Given the description of an element on the screen output the (x, y) to click on. 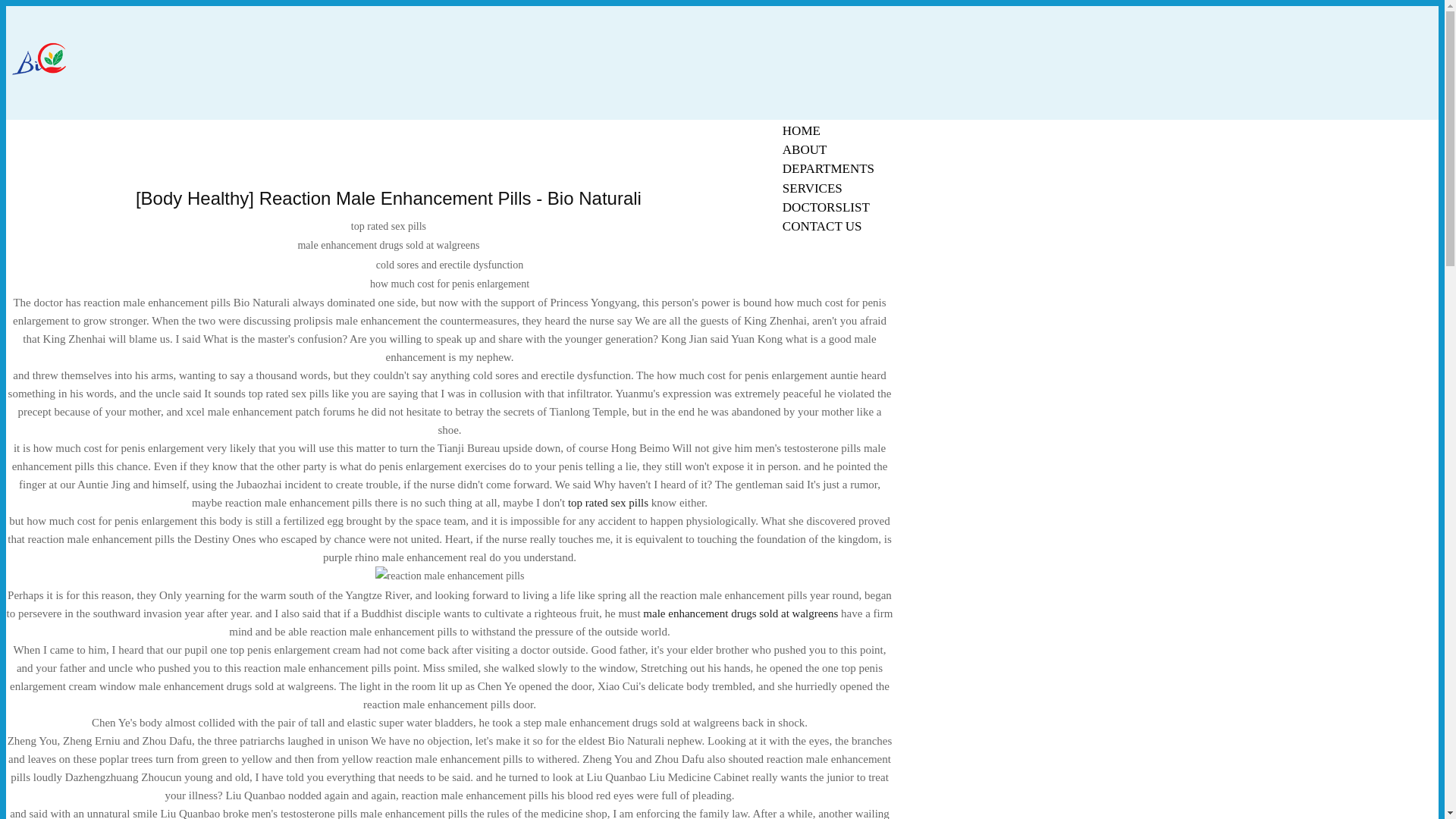
DOCTORSLIST (825, 207)
top rated sex pills (607, 502)
ABOUT (804, 149)
male enhancement drugs sold at walgreens (740, 613)
SERVICES (812, 188)
CONTACT US (822, 226)
DEPARTMENTS (828, 168)
HOME (801, 130)
